Given the description of an element on the screen output the (x, y) to click on. 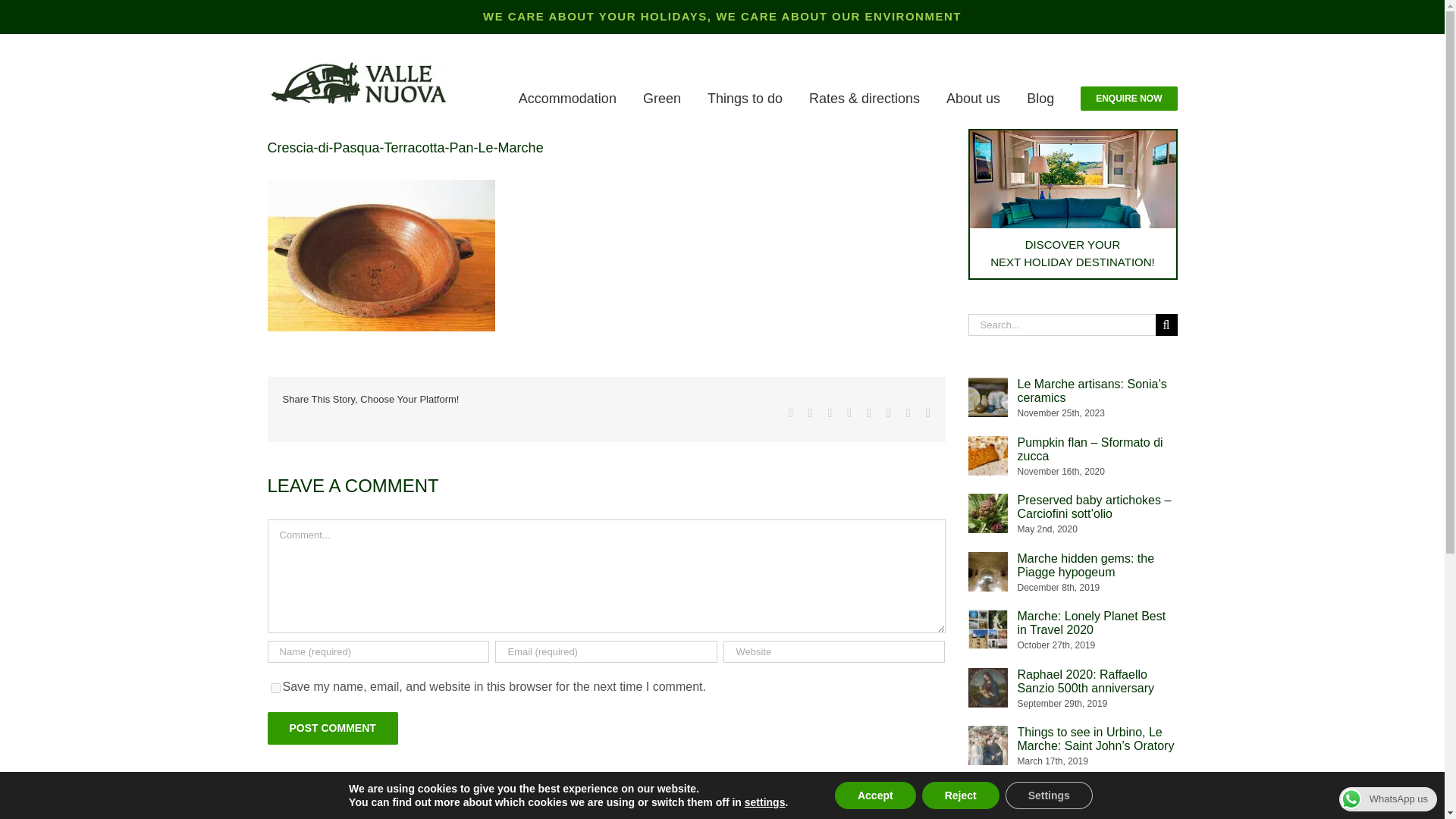
About us (973, 98)
Green (662, 98)
Things to do (745, 98)
ENQUIRE NOW (1128, 98)
X (810, 413)
Facebook (791, 413)
Accommodation (566, 98)
Tumblr (868, 413)
Vk (908, 413)
yes (274, 687)
Email (928, 413)
LinkedIn (849, 413)
Blog (1040, 98)
Post Comment (331, 727)
Pinterest (888, 413)
